Given the description of an element on the screen output the (x, y) to click on. 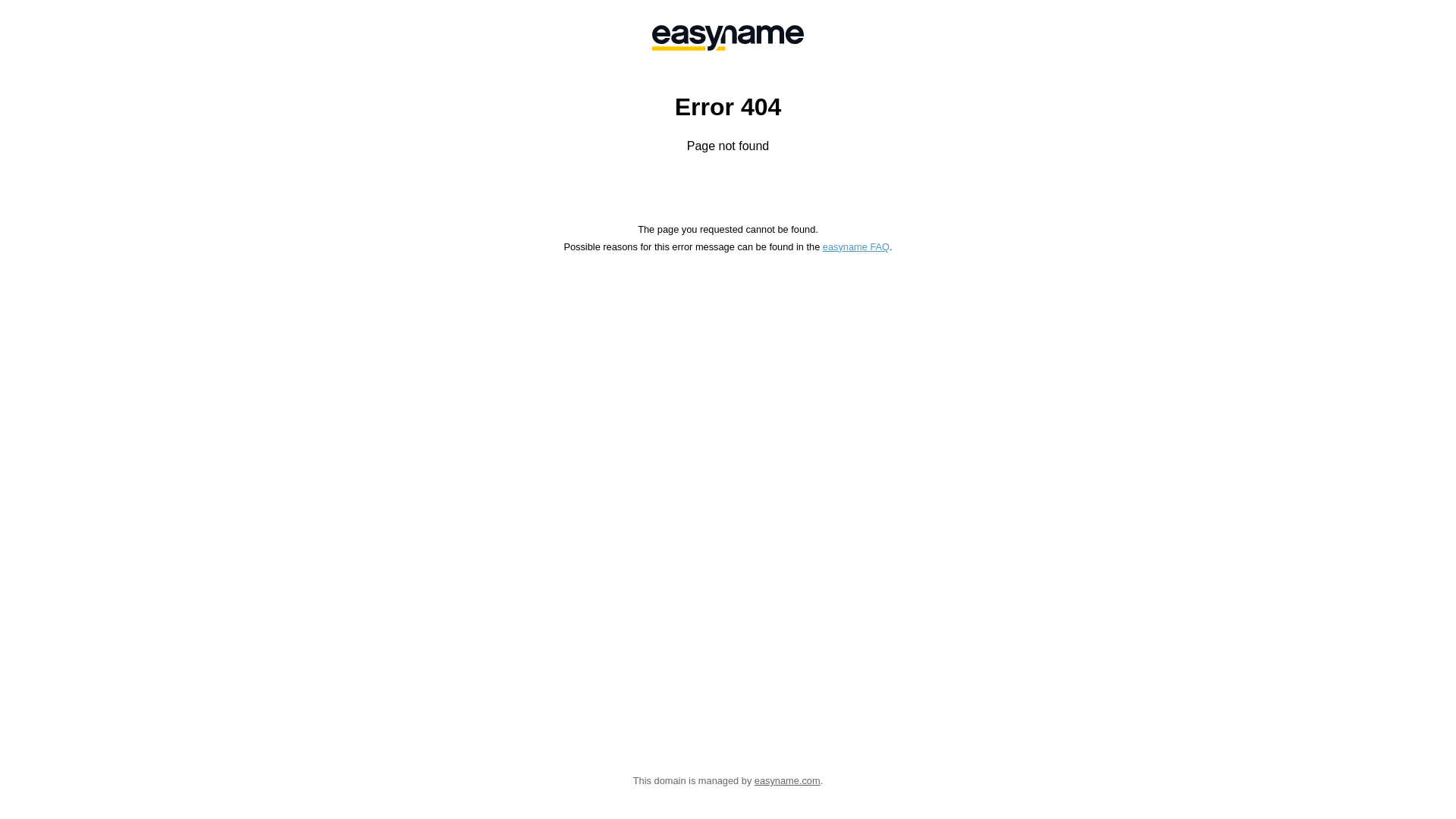
easyname GmbH Element type: hover (727, 37)
easyname FAQ Element type: text (855, 246)
easyname.com Element type: text (787, 780)
